Given the description of an element on the screen output the (x, y) to click on. 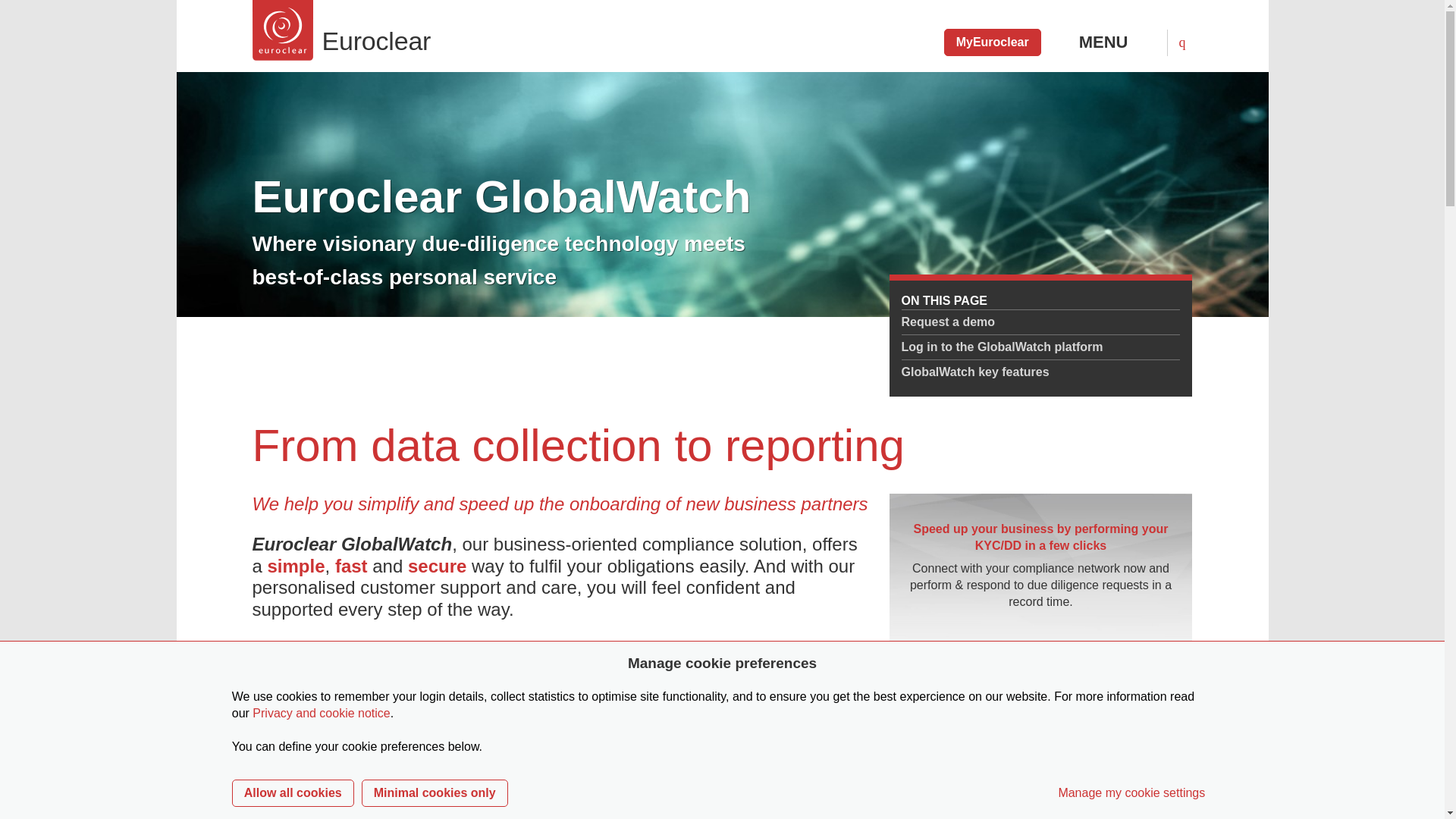
GlobalWatch key features (1040, 372)
Request a demo (1040, 322)
Euroclear (469, 30)
Log in to the GlobalWatch platform (1040, 346)
Log in (1040, 661)
Log in to the GlobalWatch platform (1040, 346)
Request a demo (1040, 322)
MyEuroclear (992, 42)
MyEuroclear (992, 42)
MENU (1117, 42)
GlobalWatch key features (1040, 372)
